Given the description of an element on the screen output the (x, y) to click on. 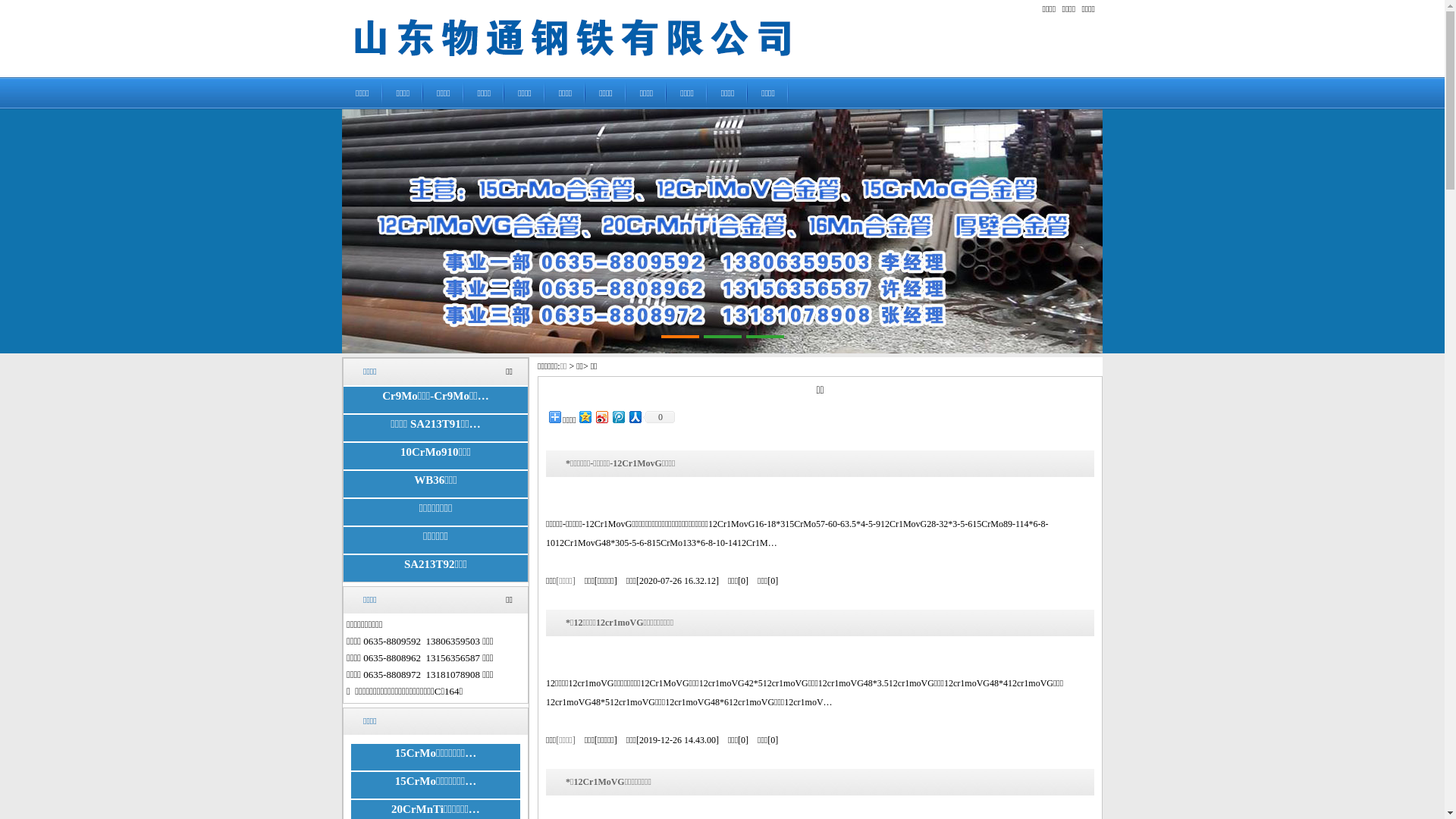
0 Element type: text (658, 417)
